Given the description of an element on the screen output the (x, y) to click on. 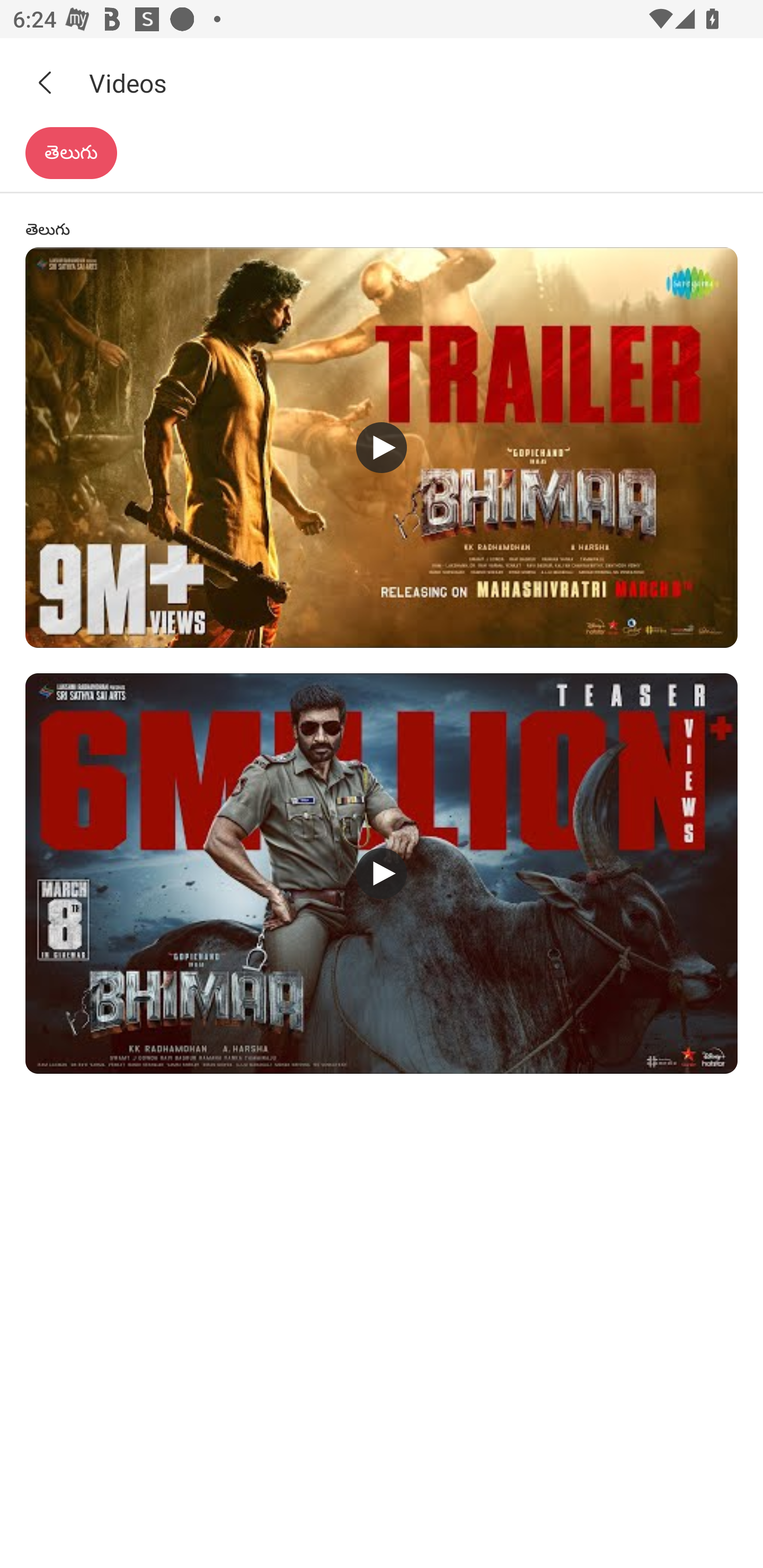
Back (44, 82)
తెలుగు (70, 152)
Play (381, 447)
Play (381, 873)
